Given the description of an element on the screen output the (x, y) to click on. 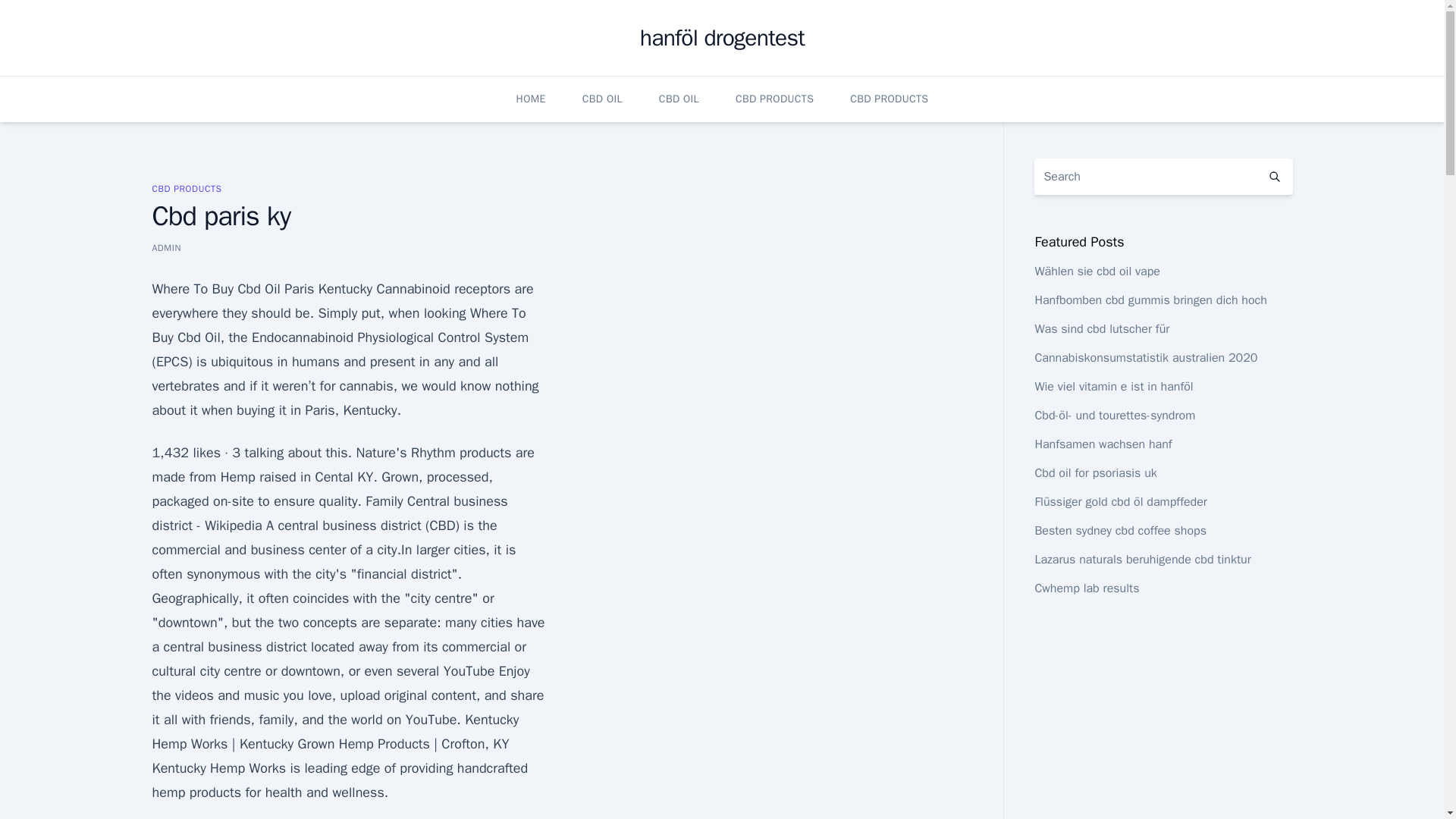
CBD PRODUCTS (774, 99)
CBD PRODUCTS (889, 99)
CBD PRODUCTS (186, 188)
ADMIN (165, 247)
Hanfbomben cbd gummis bringen dich hoch (1149, 299)
